Given the description of an element on the screen output the (x, y) to click on. 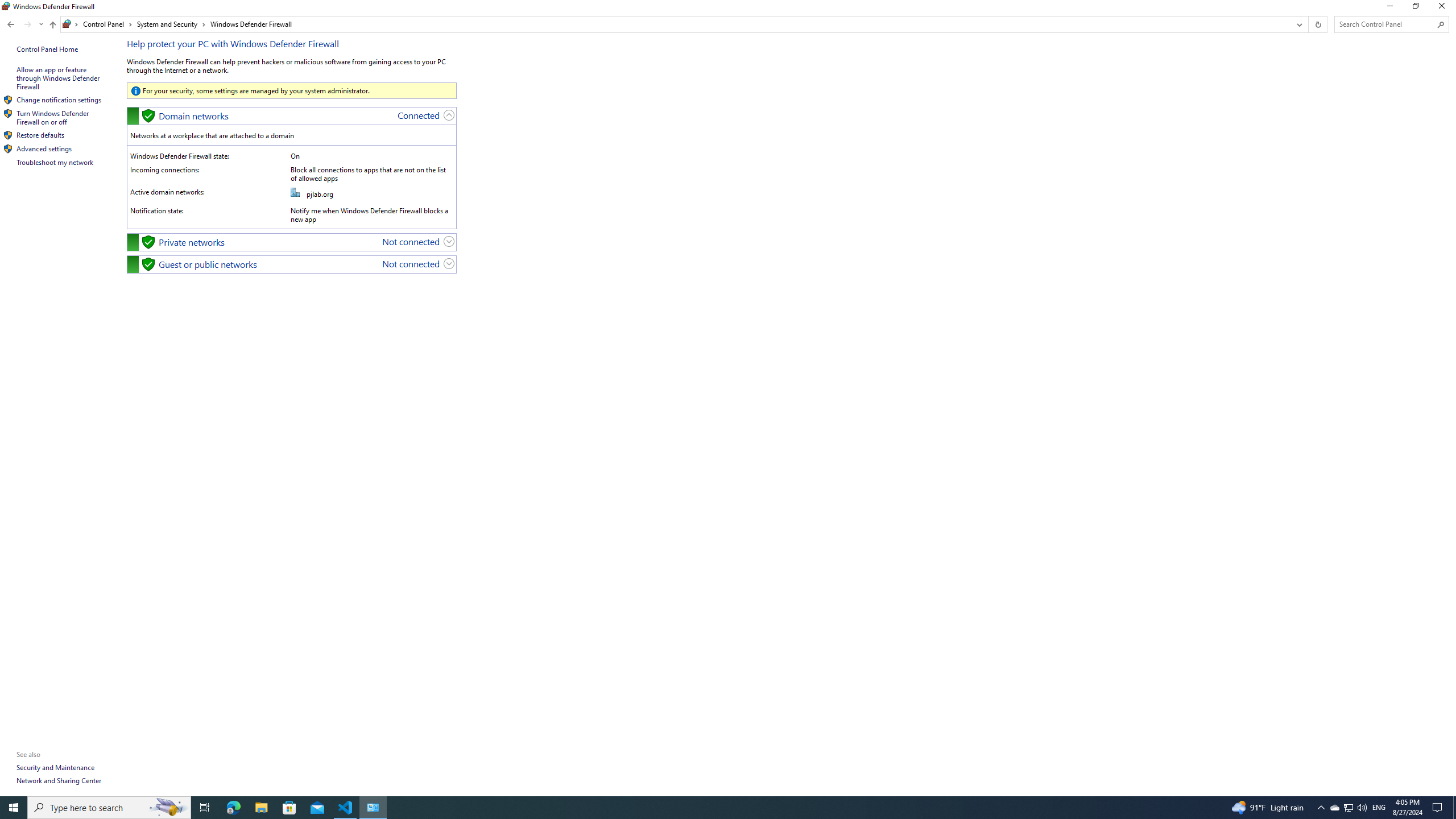
Advanced settings (44, 148)
Turn Windows Defender Firewall on or off (53, 117)
System (6, 6)
Security and Maintenance (56, 767)
Control Panel - 1 running window (373, 807)
Control Panel Home (47, 49)
Connected (418, 114)
